Given the description of an element on the screen output the (x, y) to click on. 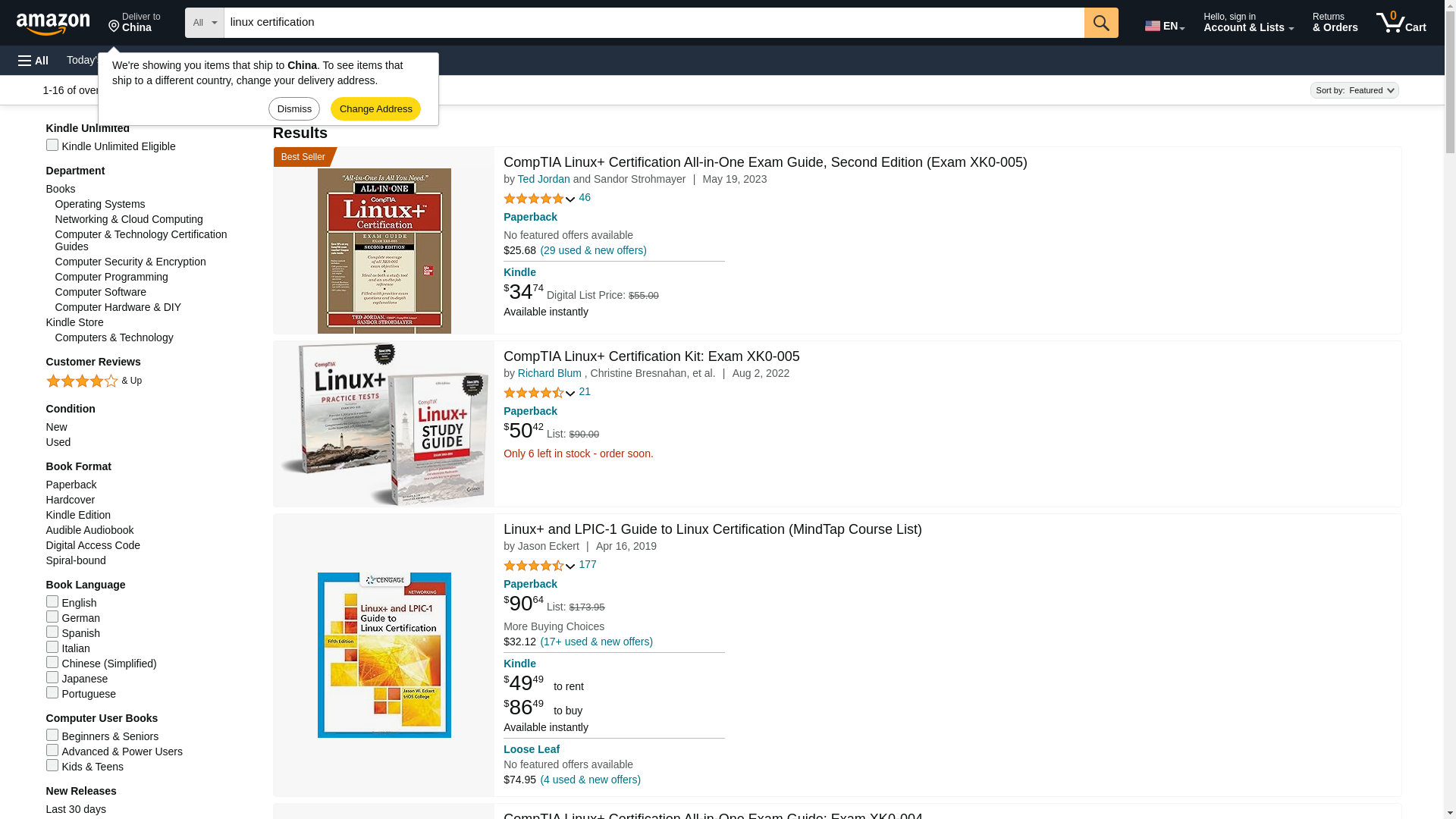
Gift Cards (333, 59)
Sell (384, 59)
EN (1163, 22)
Go (134, 22)
Skip to main content (1101, 22)
Registry (60, 21)
Go (272, 59)
All (1101, 22)
Today's Deals (33, 60)
Ted Jordan (99, 59)
linux certification (544, 178)
Customer Service (654, 22)
